Given the description of an element on the screen output the (x, y) to click on. 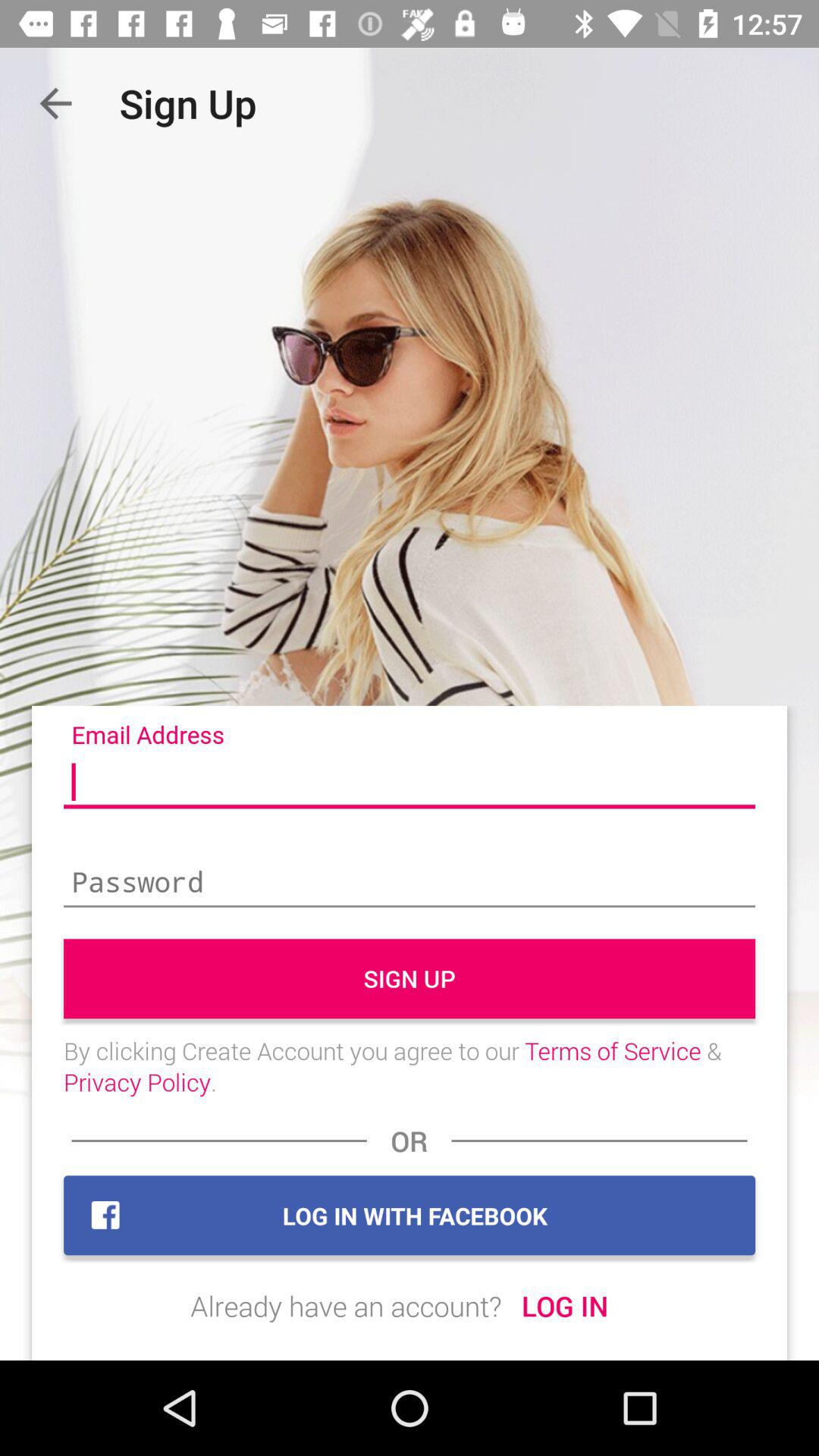
enter email (409, 782)
